Given the description of an element on the screen output the (x, y) to click on. 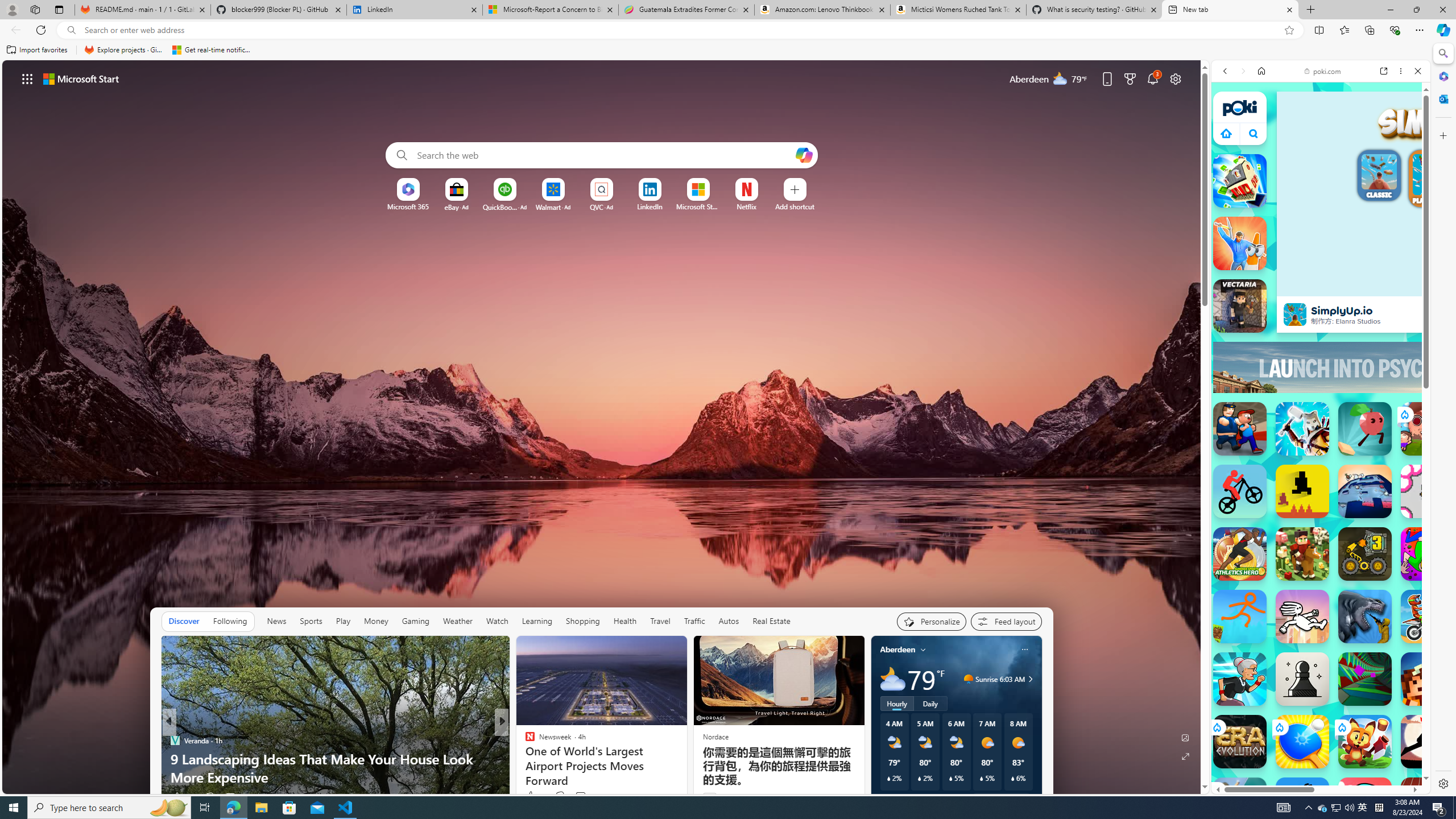
View comments 104 Comment (587, 796)
Lurkers.io (1427, 678)
Level Devil (1302, 491)
Escape From School Escape From School (1239, 428)
